Given the description of an element on the screen output the (x, y) to click on. 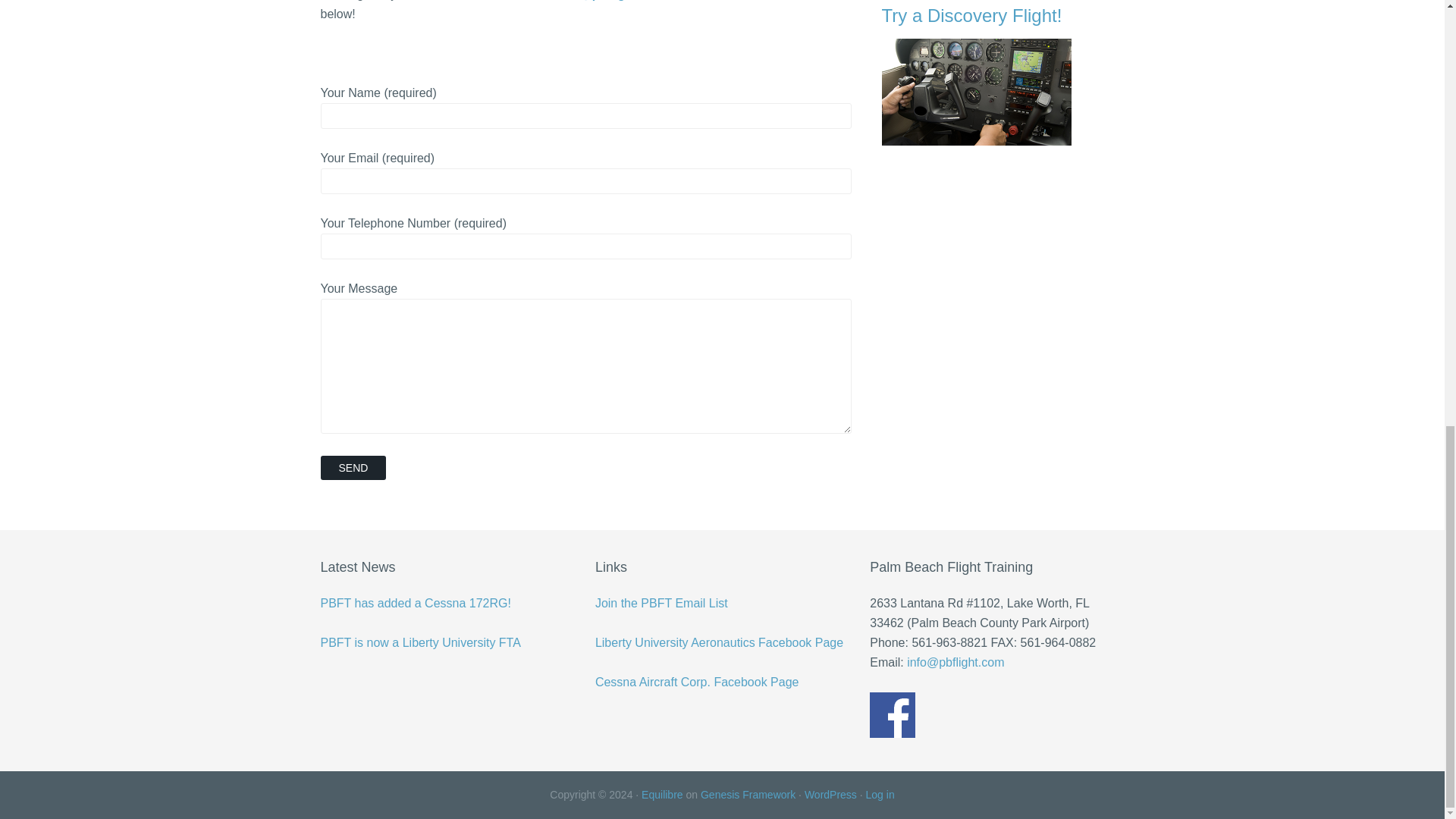
Try a Discovery Flight! (1002, 74)
Cessna Aircraft Corp. Facebook Page (697, 681)
PBFT is now a Liberty University FTA (419, 642)
Log in (880, 794)
PBFT has added a Cessna 172RG! (415, 603)
Join the PBFT Email List (661, 603)
Send (352, 467)
Equilibre (662, 794)
Liberty University Aeronautics Facebook Page (719, 642)
Send (352, 467)
